Given the description of an element on the screen output the (x, y) to click on. 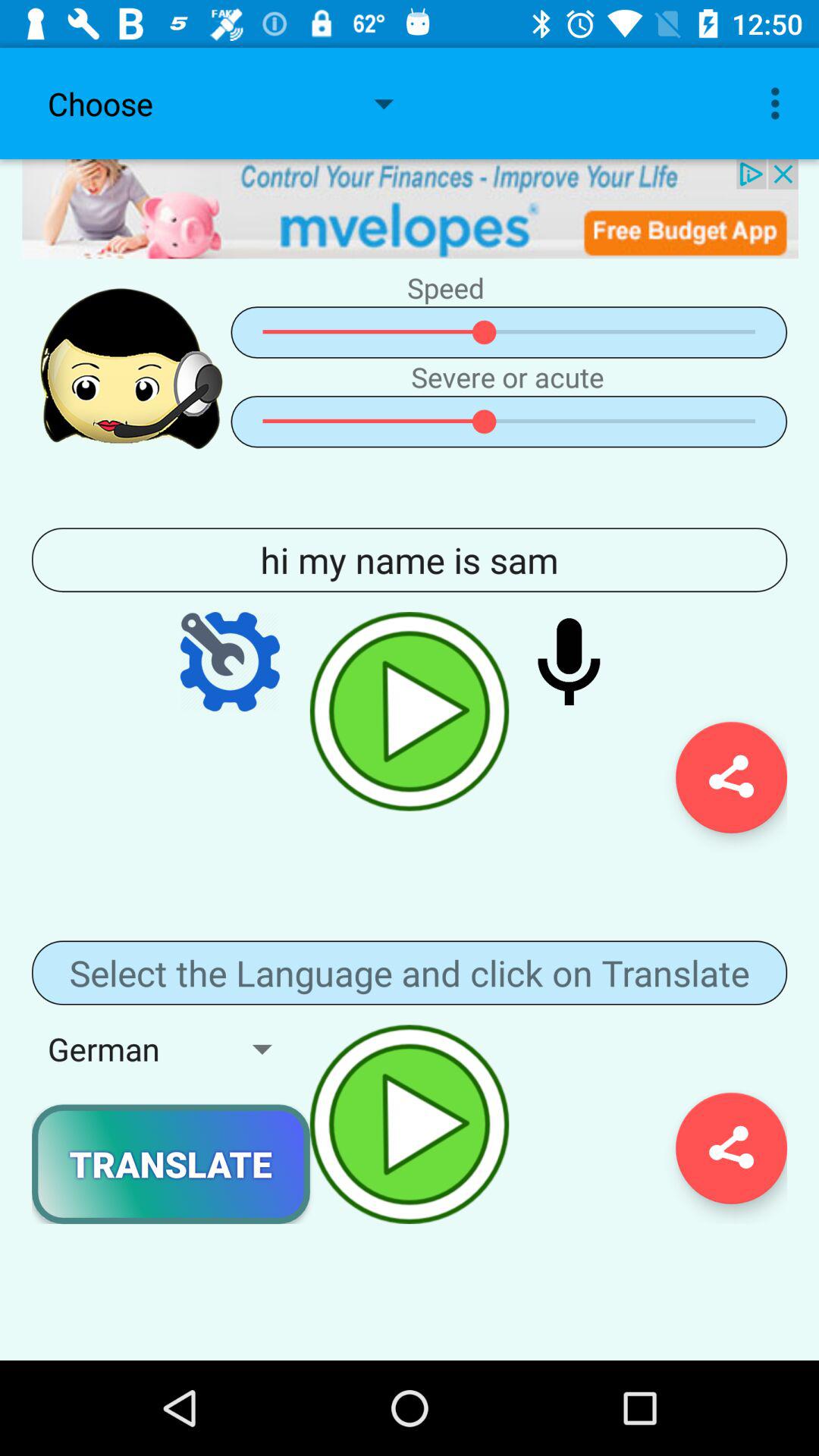
play video (409, 711)
